Given the description of an element on the screen output the (x, y) to click on. 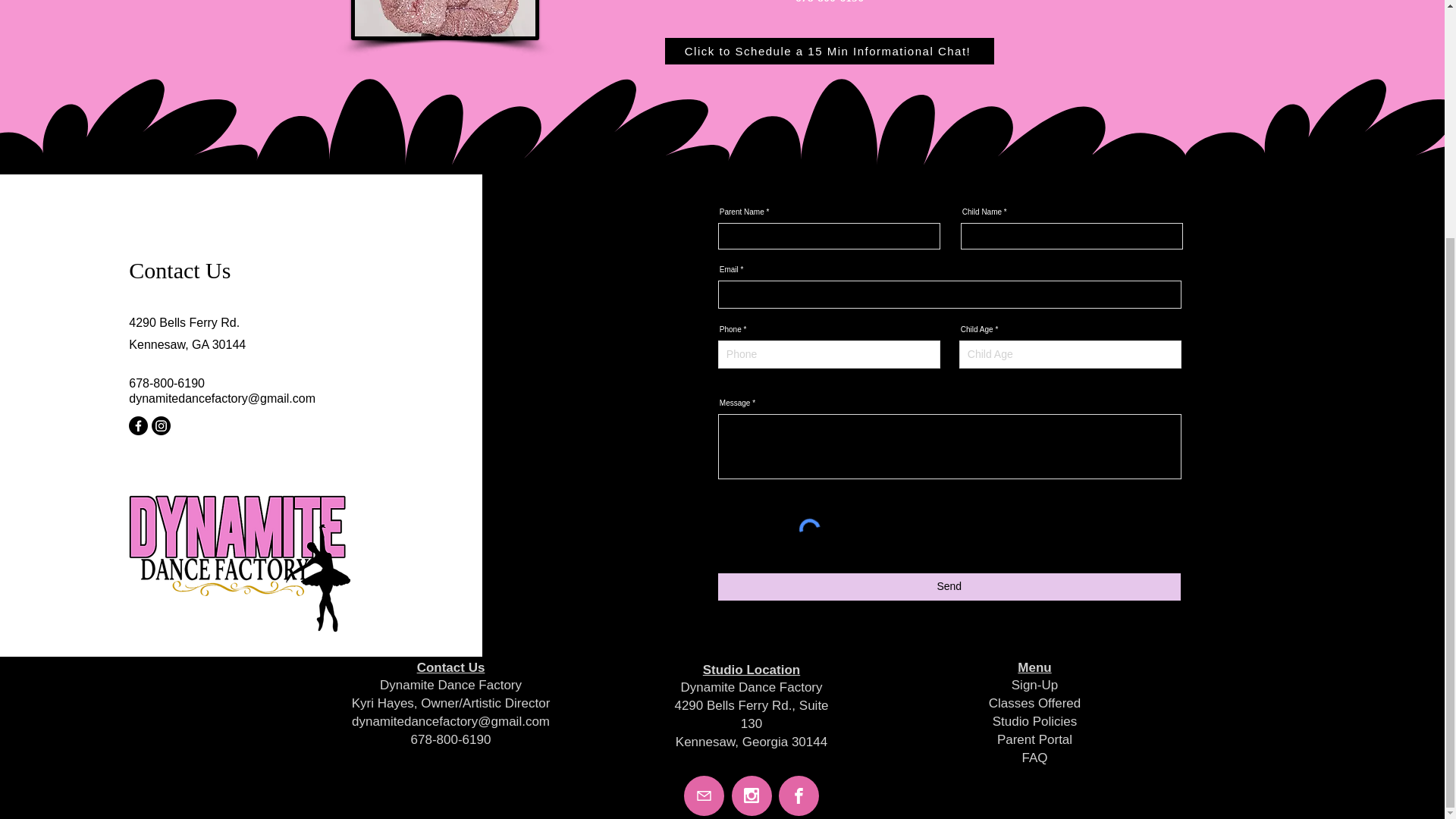
Parent Portal (1034, 739)
Classes Offered (1034, 703)
image.jpg (444, 20)
Sign-Up (1034, 685)
Send (948, 586)
Studio Policies (1034, 721)
Click to Schedule a 15 Min Informational Chat! (827, 50)
FAQ (1034, 757)
